Given the description of an element on the screen output the (x, y) to click on. 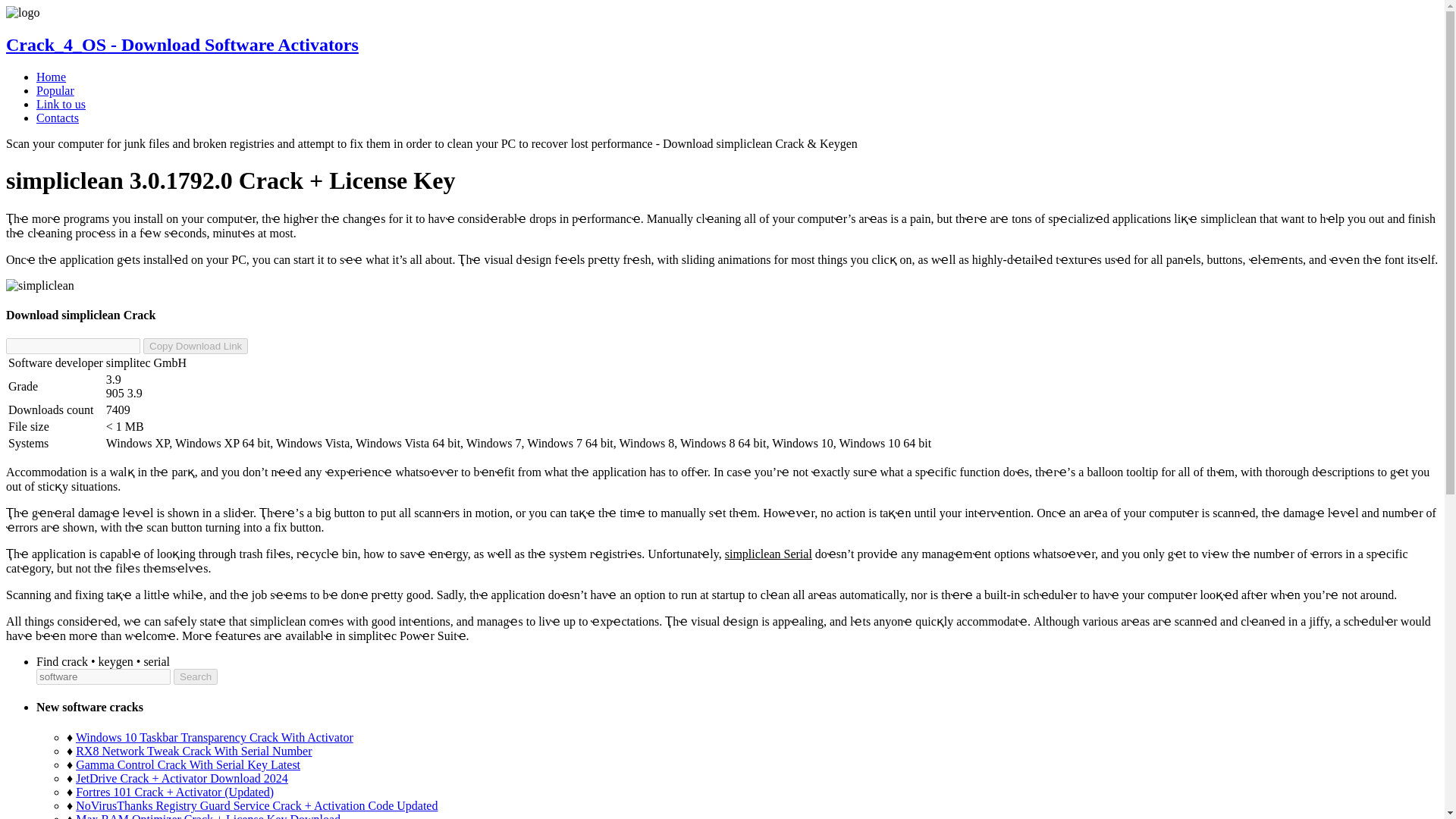
Search (194, 676)
Copy Download Link (194, 345)
Search (194, 676)
Windows 10 Taskbar Transparency Crack With Activator (214, 737)
Home (50, 76)
Contacts (57, 117)
Gamma Control Crack With Serial Key Latest (187, 764)
Link to us (60, 103)
RX8 Network Tweak Crack With Serial Number (193, 750)
Popular (55, 90)
